Given the description of an element on the screen output the (x, y) to click on. 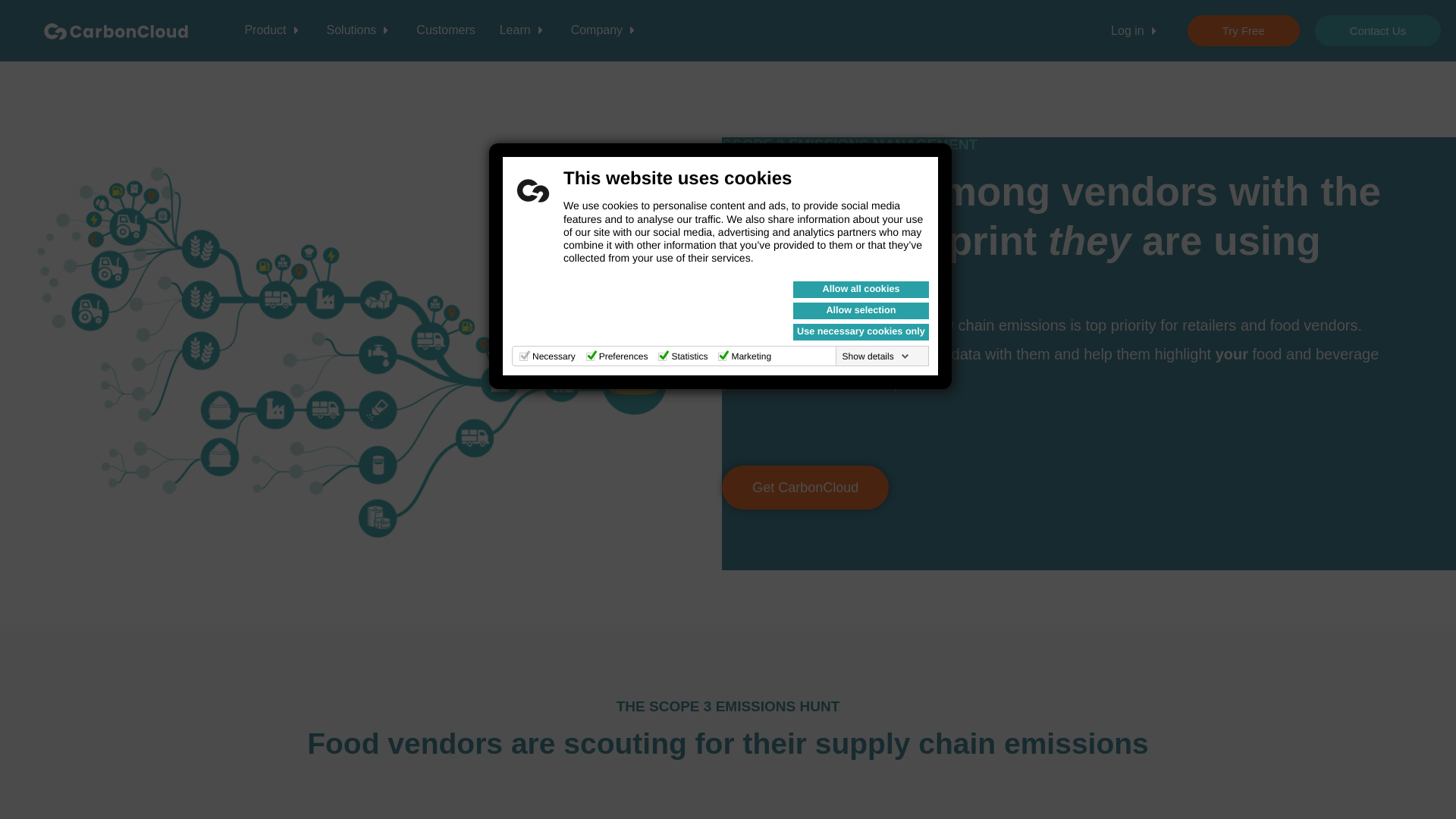
Use necessary cookies only (860, 331)
Allow all cookies (860, 289)
Show details (876, 356)
Allow selection (860, 310)
